Given the description of an element on the screen output the (x, y) to click on. 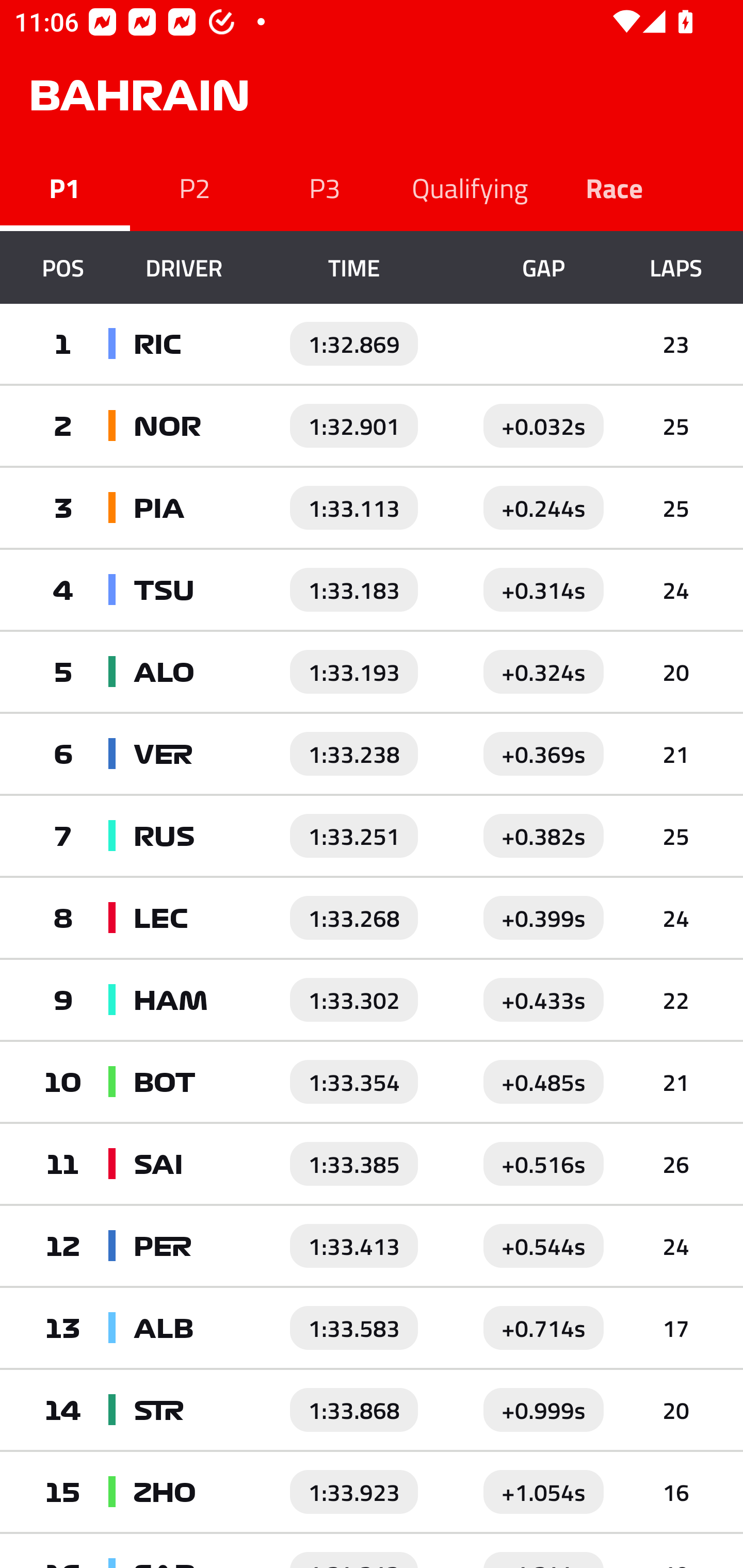
P2 (195, 187)
P3 (325, 187)
Qualifying (469, 187)
Race (614, 187)
